Given the description of an element on the screen output the (x, y) to click on. 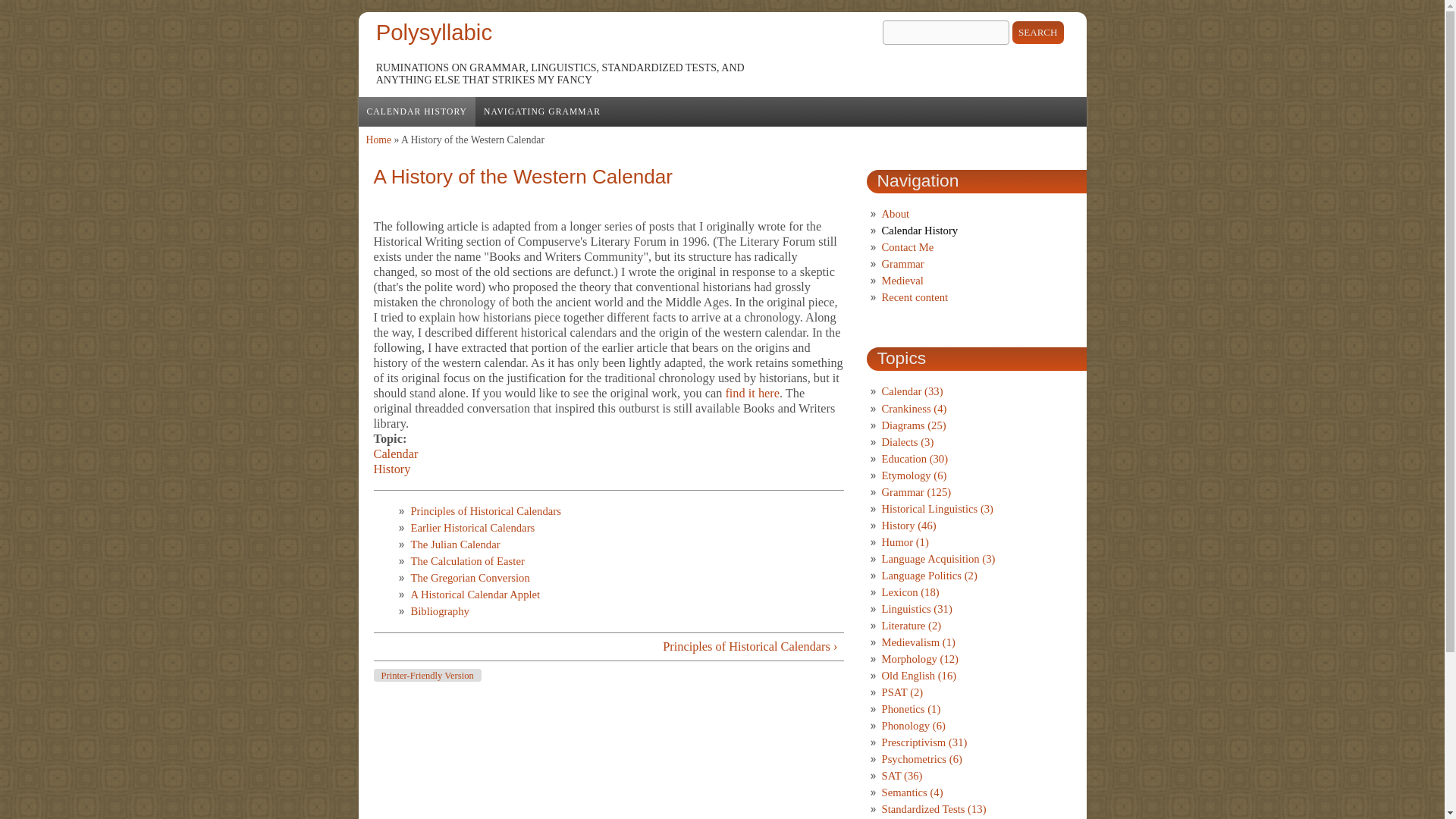
Printer-Friendly Version (426, 675)
About (894, 214)
Home (433, 32)
The Julian Calendar (454, 544)
Recent content (913, 297)
Medieval (901, 280)
The Calculation of Easter (467, 561)
Earlier Historical Calendars (472, 527)
Search (1036, 32)
